Given the description of an element on the screen output the (x, y) to click on. 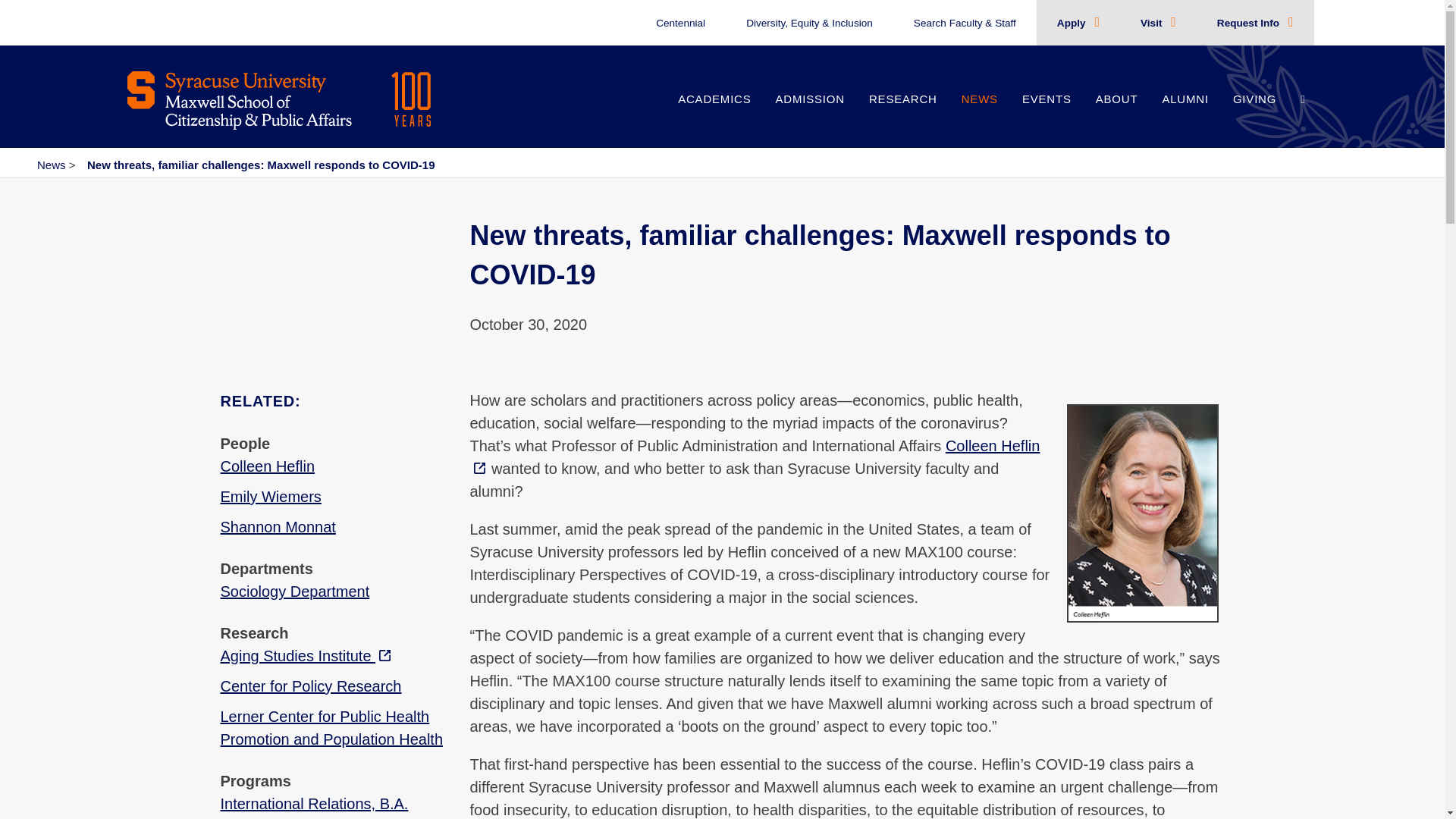
ADMISSION (809, 114)
Heflin, Colleen (755, 456)
Apply (1073, 22)
ACADEMICS (713, 114)
EVENTS (1046, 114)
NEWS (979, 114)
Request Info (1249, 22)
Visit (1152, 22)
ABOUT (1116, 114)
ALUMNI (1185, 114)
